Given the description of an element on the screen output the (x, y) to click on. 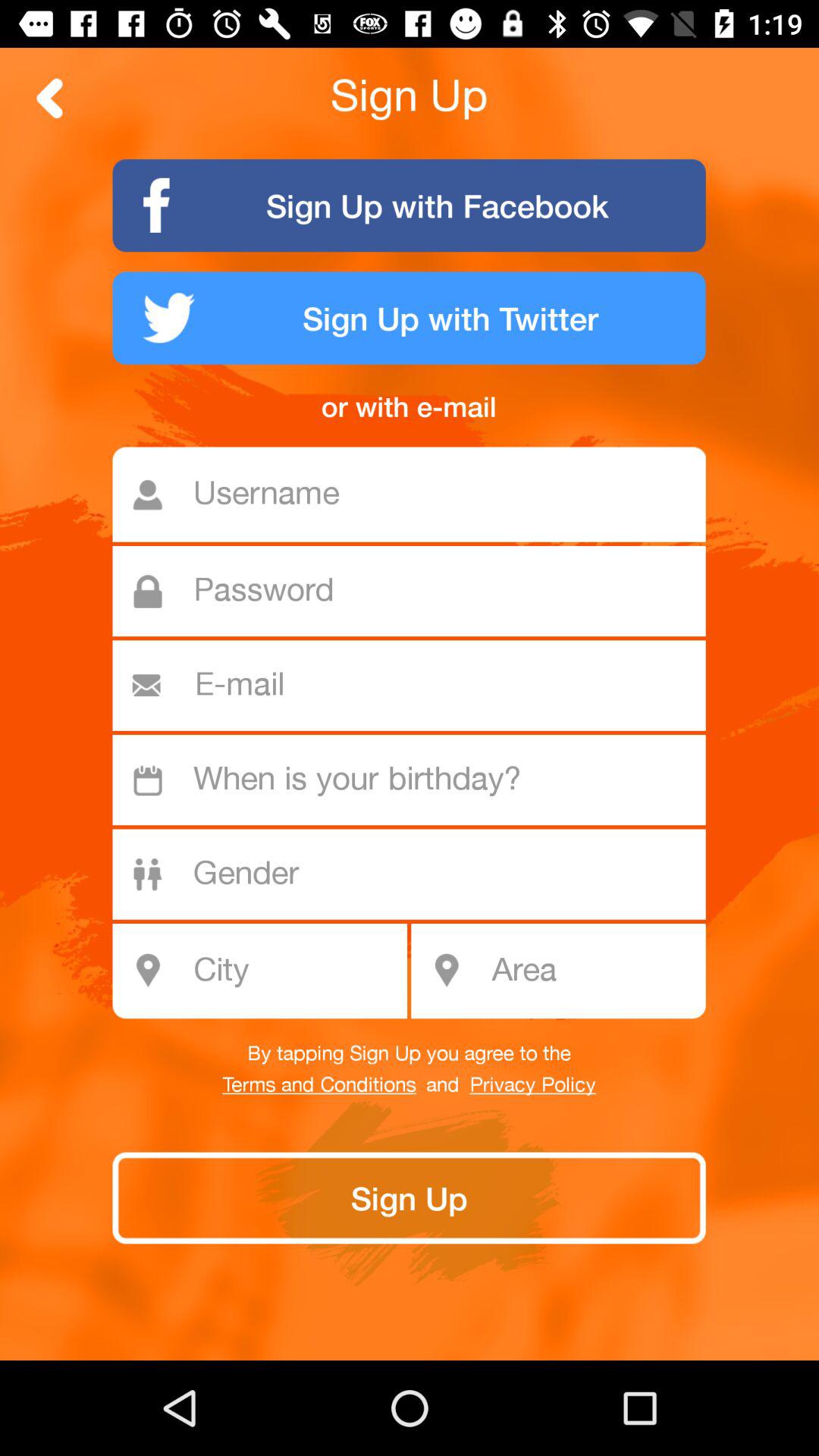
flip until terms and conditions icon (319, 1085)
